Given the description of an element on the screen output the (x, y) to click on. 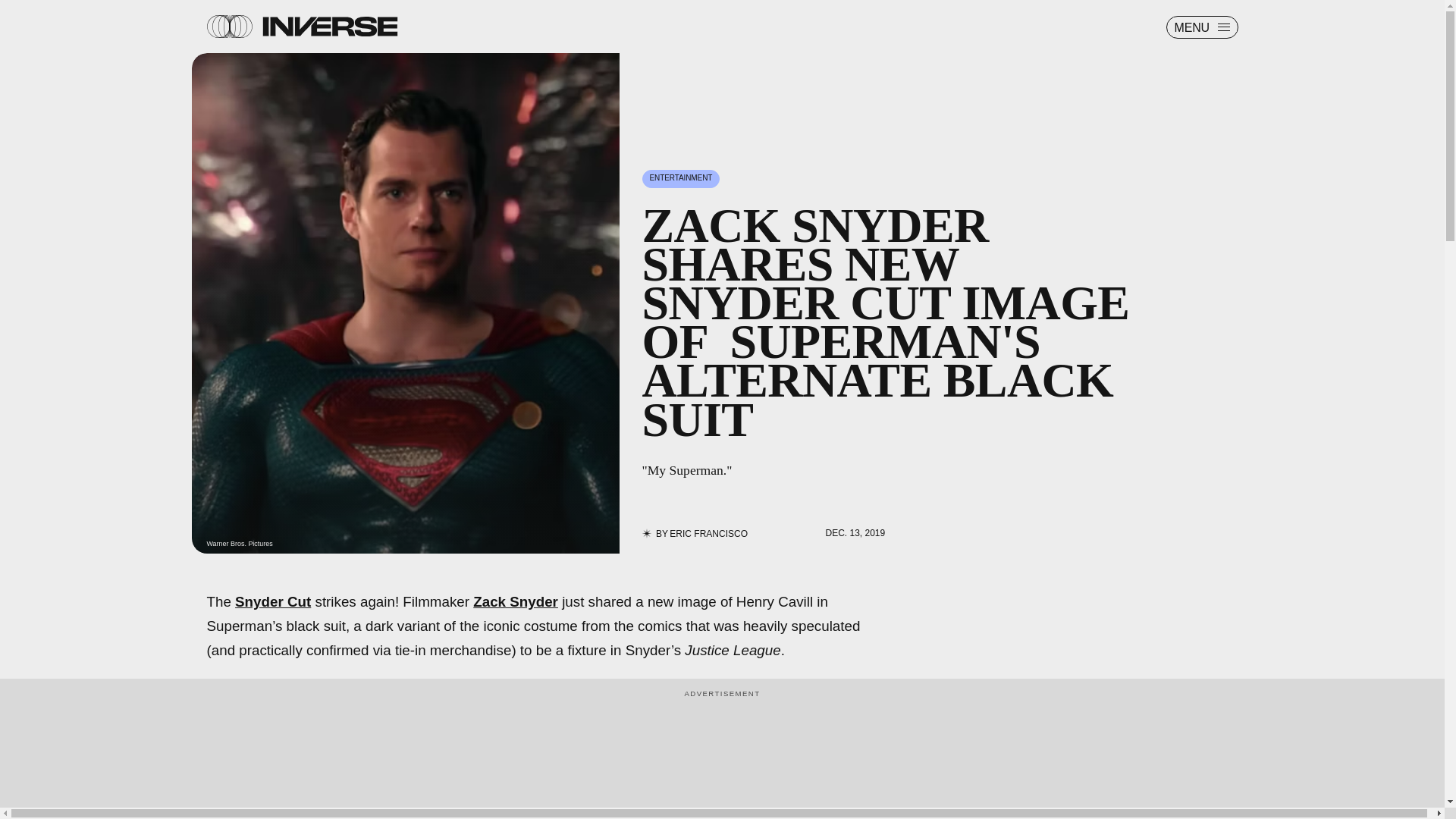
Zack Snyder (515, 601)
ERIC FRANCISCO (708, 533)
Snyder Cut (272, 601)
Inverse (328, 26)
